Given the description of an element on the screen output the (x, y) to click on. 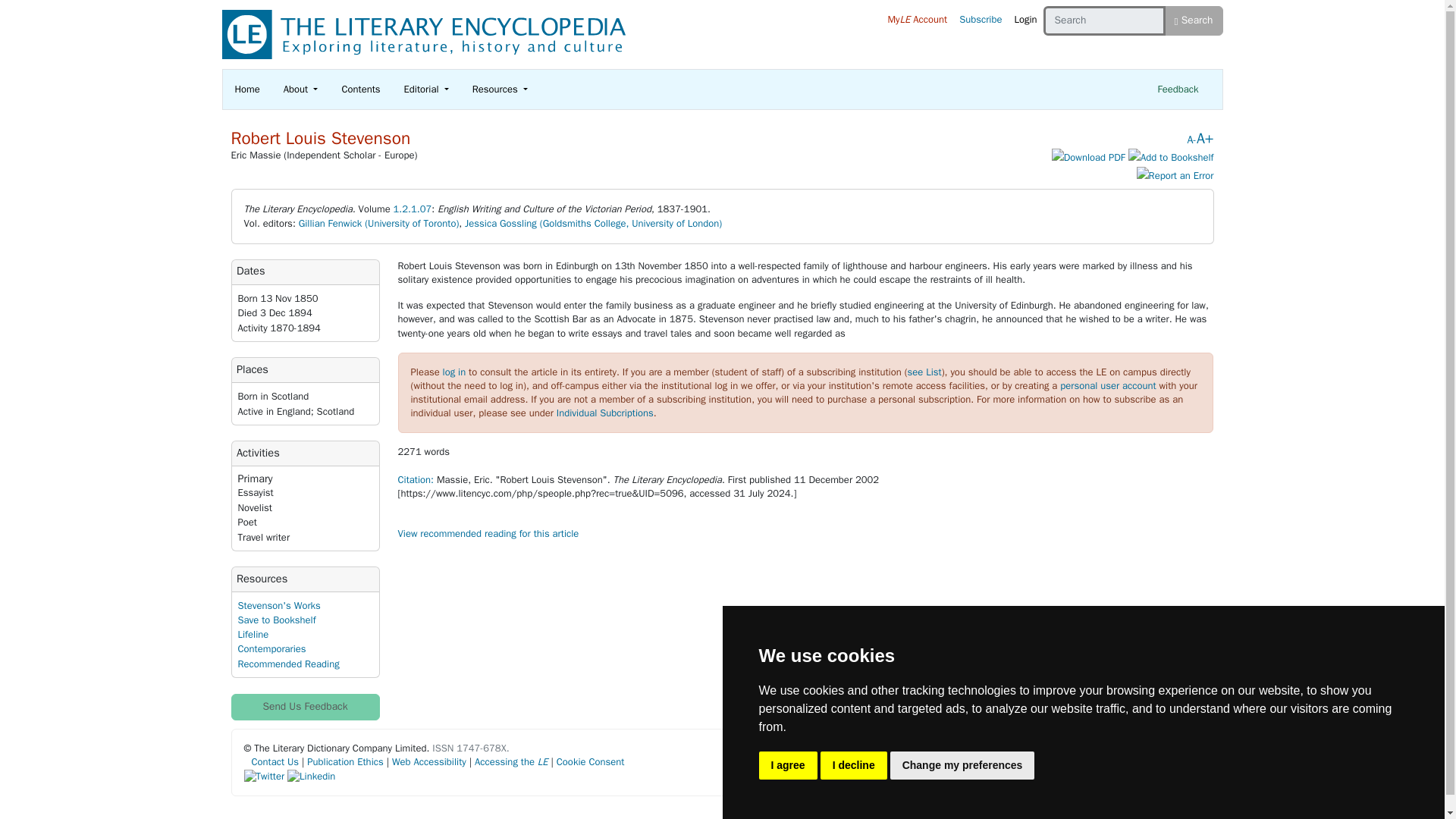
Save to PDF (1088, 157)
Contents (359, 89)
Recommended reading for this article. (487, 533)
About (301, 89)
I agree (787, 765)
Feedback (1177, 89)
MyLE Account (916, 19)
Editorial (425, 89)
Home (247, 89)
Subscribe (980, 19)
Resources (499, 89)
Save to Bookshelf (1171, 157)
I decline (853, 765)
Search (1193, 20)
Report an Error (1175, 176)
